Given the description of an element on the screen output the (x, y) to click on. 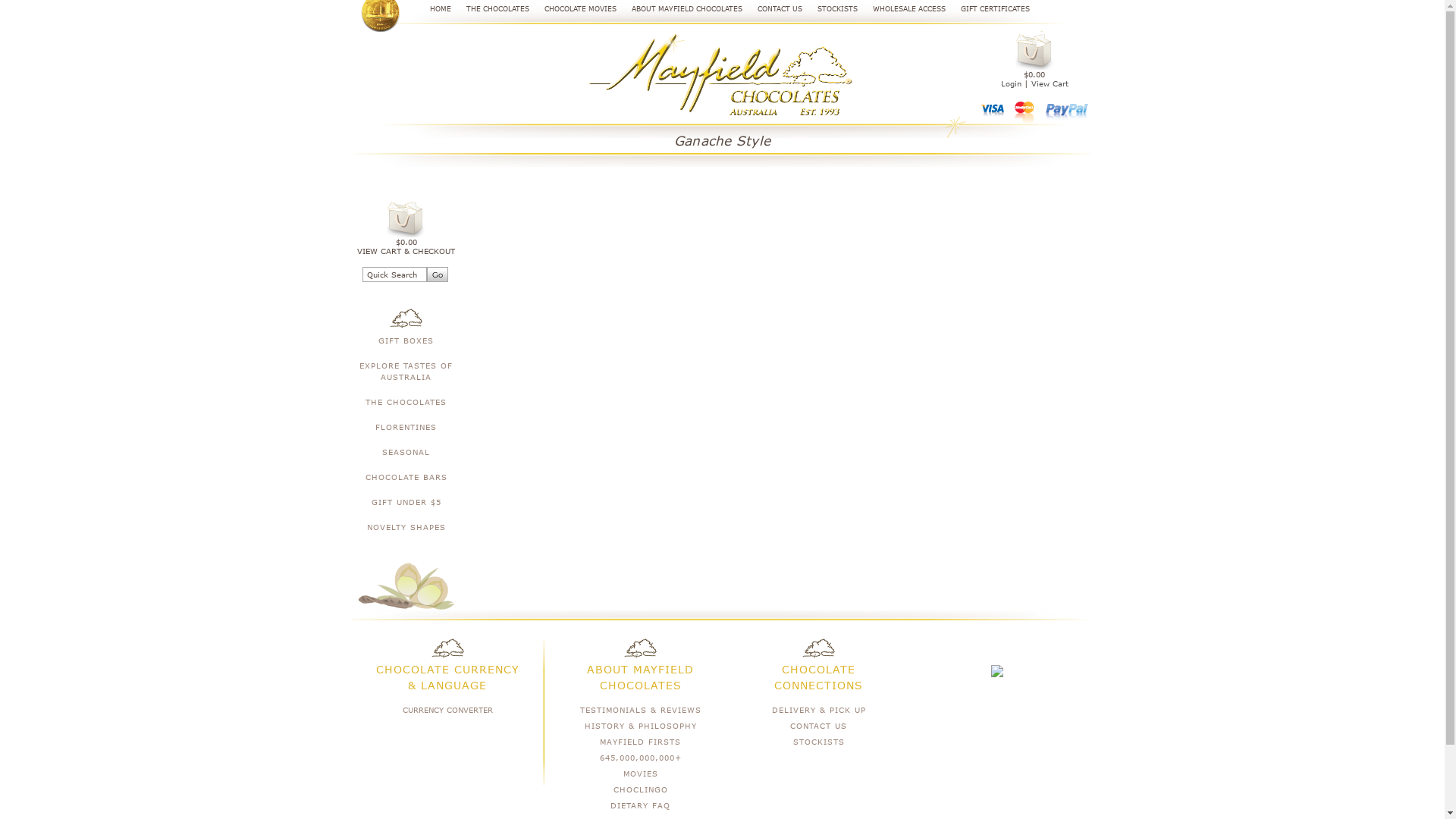
DELIVERY & PICK UP Element type: text (818, 709)
Go Element type: text (437, 274)
NOVELTY SHAPES Element type: text (405, 527)
THE CHOCOLATES Element type: text (490, 9)
CONTACT US Element type: text (818, 724)
GIFT CERTIFICATES Element type: text (987, 9)
CHOCOLATE MOVIES Element type: text (572, 9)
EXPLORE TASTES OF AUSTRALIA Element type: text (405, 370)
VIEW CART & CHECKOUT Element type: text (406, 249)
ABOUT MAYFIELD CHOCOLATES Element type: text (639, 676)
ABOUT MAYFIELD CHOCOLATES Element type: text (679, 9)
GIFT UNDER $5 Element type: text (405, 501)
CHOCOLATE CONNECTIONS Element type: text (818, 676)
TESTIMONIALS & REVIEWS Element type: text (640, 709)
MOVIES Element type: text (640, 773)
STOCKISTS Element type: text (829, 9)
fb:like Facebook Social Plugin Element type: hover (449, 754)
THE CHOCOLATES Element type: text (405, 401)
CHOCLINGO Element type: text (640, 788)
SEASONAL Element type: text (405, 451)
Login Element type: text (1012, 82)
HISTORY & PHILOSOPHY Element type: text (640, 724)
View Cart Element type: text (1049, 82)
CURRENCY CONVERTER Element type: text (447, 709)
FLORENTINES Element type: text (405, 427)
Mayfield Chocolates Australia Element type: hover (721, 74)
HOME Element type: text (432, 9)
DIETARY FAQ Element type: text (640, 804)
WHOLESALE ACCESS Element type: text (901, 9)
CHOCOLATE CURRENCY
& LANGUAGE Element type: text (447, 676)
645,000,000,000+ Element type: text (640, 756)
CONTACT US Element type: text (772, 9)
MAYFIELD FIRSTS Element type: text (639, 741)
STOCKISTS Element type: text (818, 741)
GIFT BOXES Element type: text (405, 340)
CHOCOLATE BARS Element type: text (405, 477)
